Given the description of an element on the screen output the (x, y) to click on. 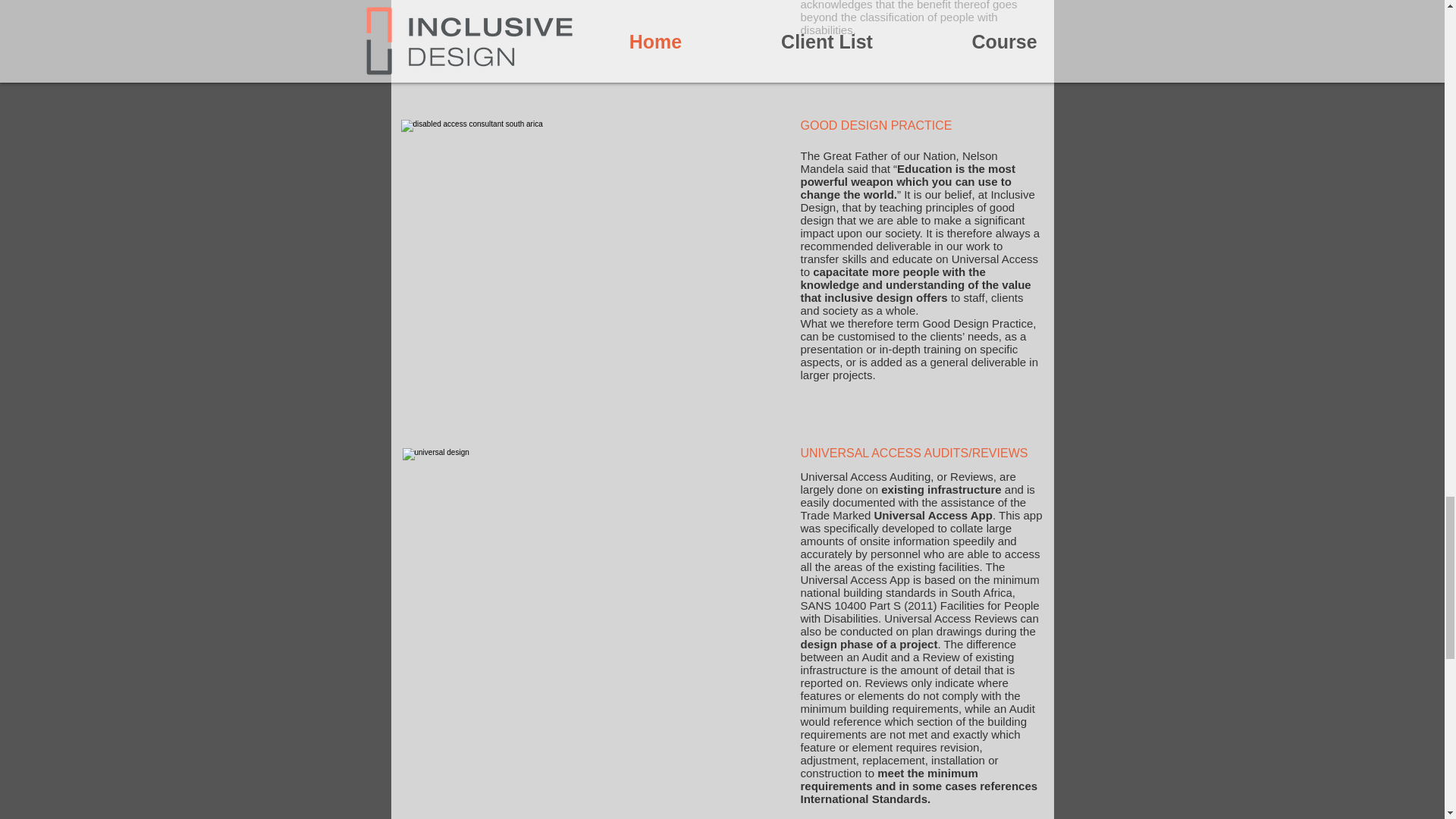
GOOD DESIGN PRACTICE (876, 124)
